Given the description of an element on the screen output the (x, y) to click on. 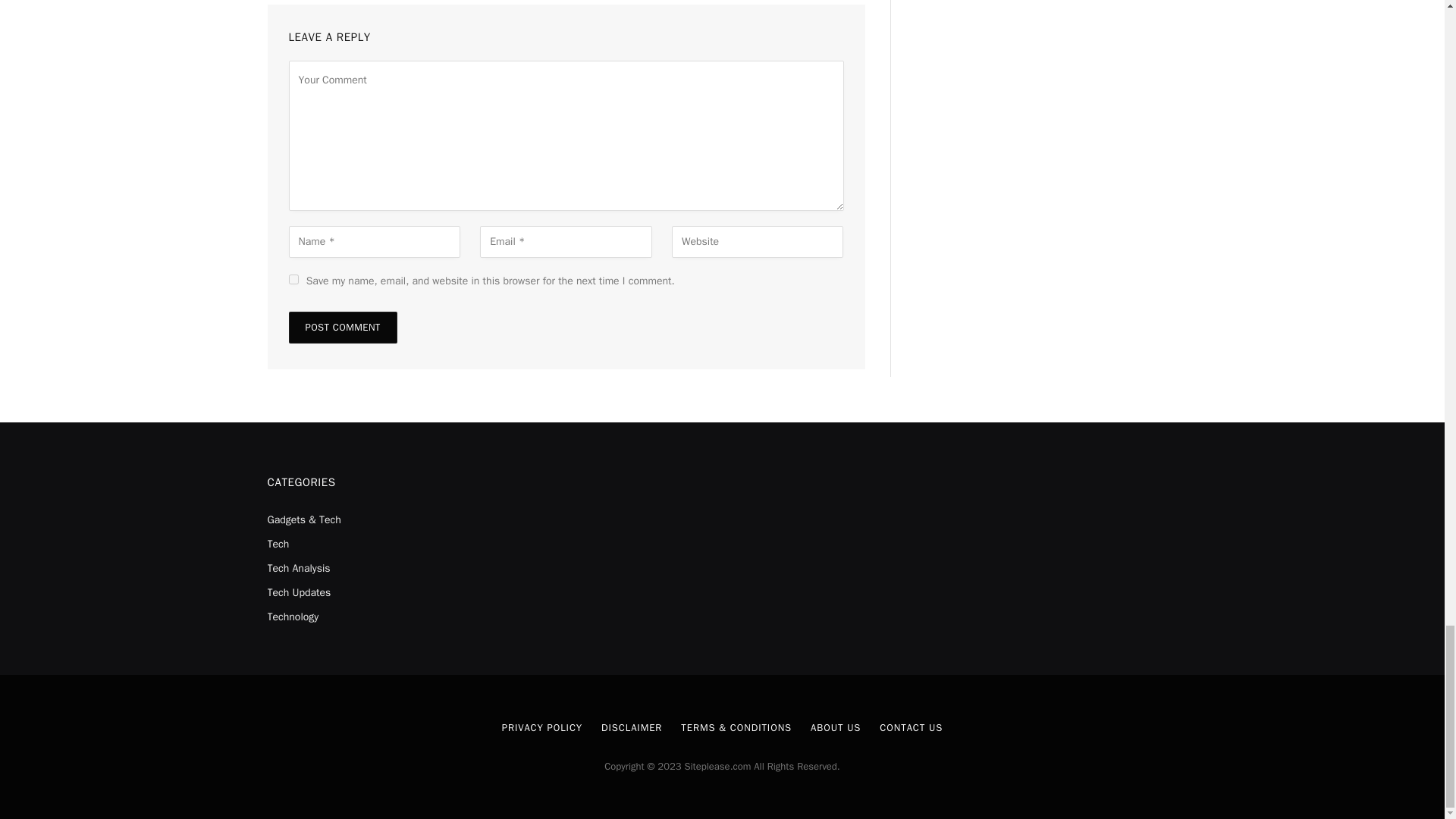
yes (293, 279)
Post Comment (342, 327)
